Given the description of an element on the screen output the (x, y) to click on. 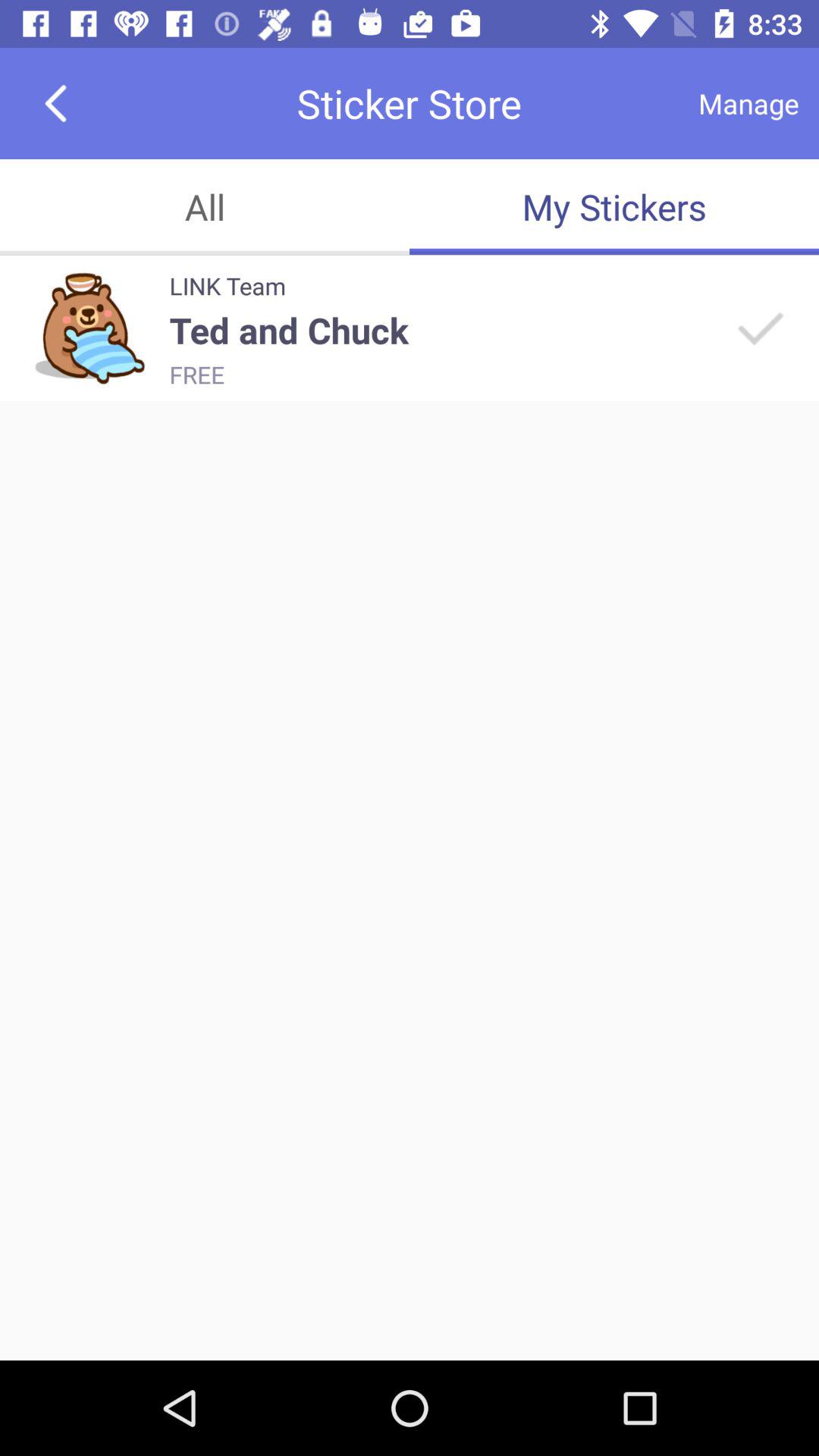
launch the all (204, 206)
